Given the description of an element on the screen output the (x, y) to click on. 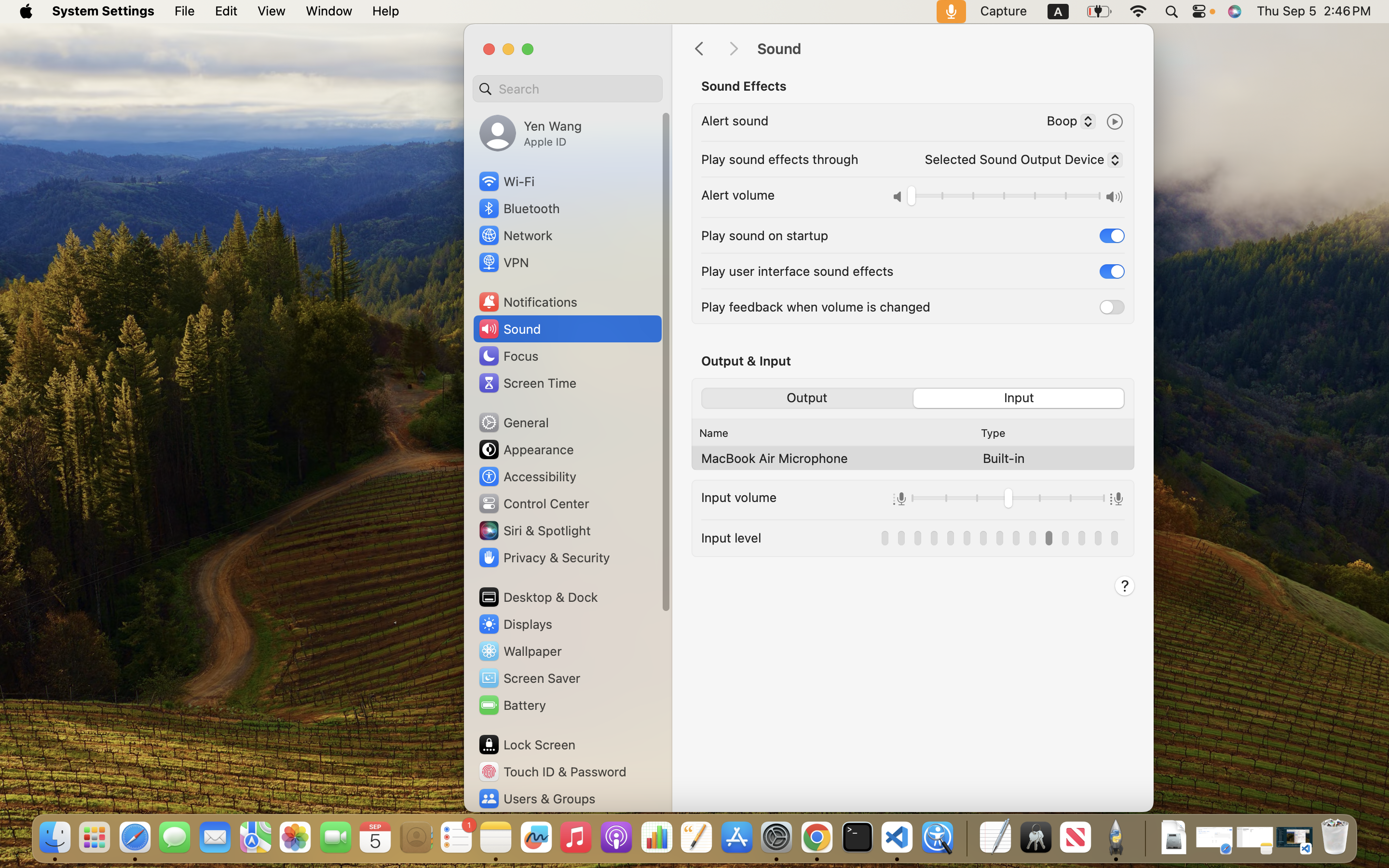
Input level Element type: AXStaticText (731, 536)
Privacy & Security Element type: AXStaticText (543, 557)
